Given the description of an element on the screen output the (x, y) to click on. 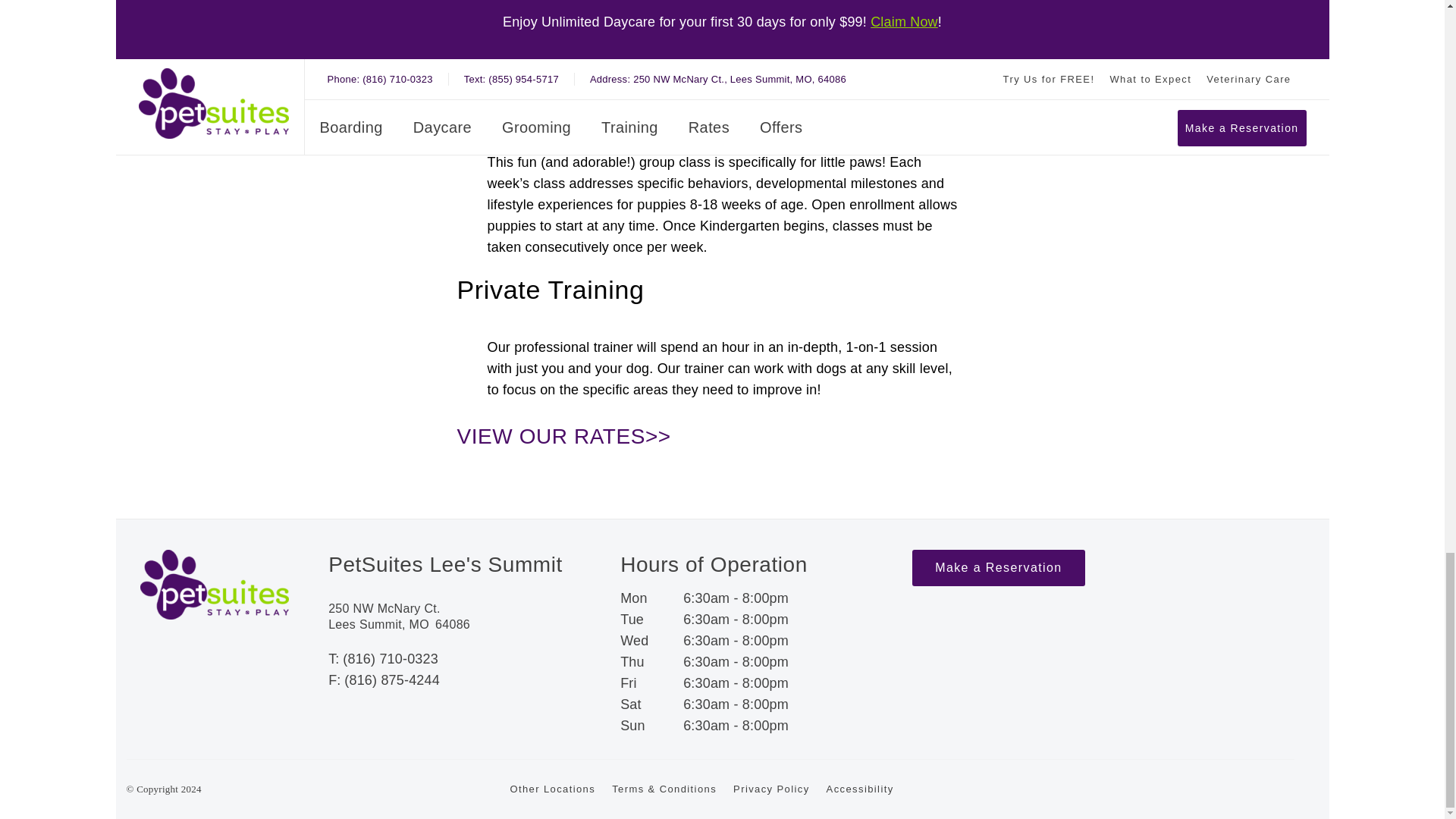
Privacy Policy (771, 816)
Accessibility (860, 816)
Other Locations (552, 816)
Make a Reservation (998, 597)
